Given the description of an element on the screen output the (x, y) to click on. 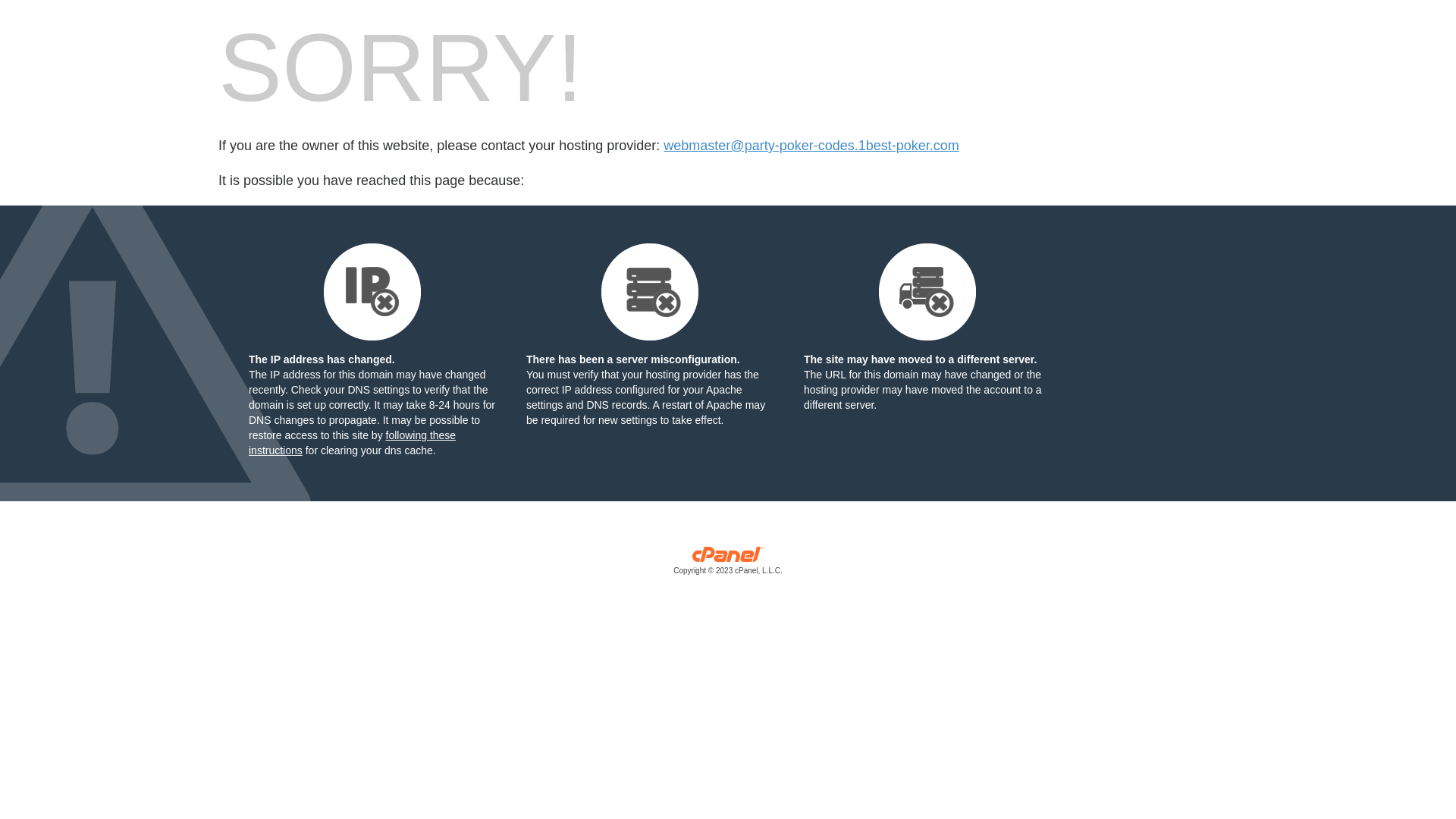
webmaster@party-poker-codes.1best-poker.com Element type: text (810, 145)
following these instructions Element type: text (351, 442)
